Given the description of an element on the screen output the (x, y) to click on. 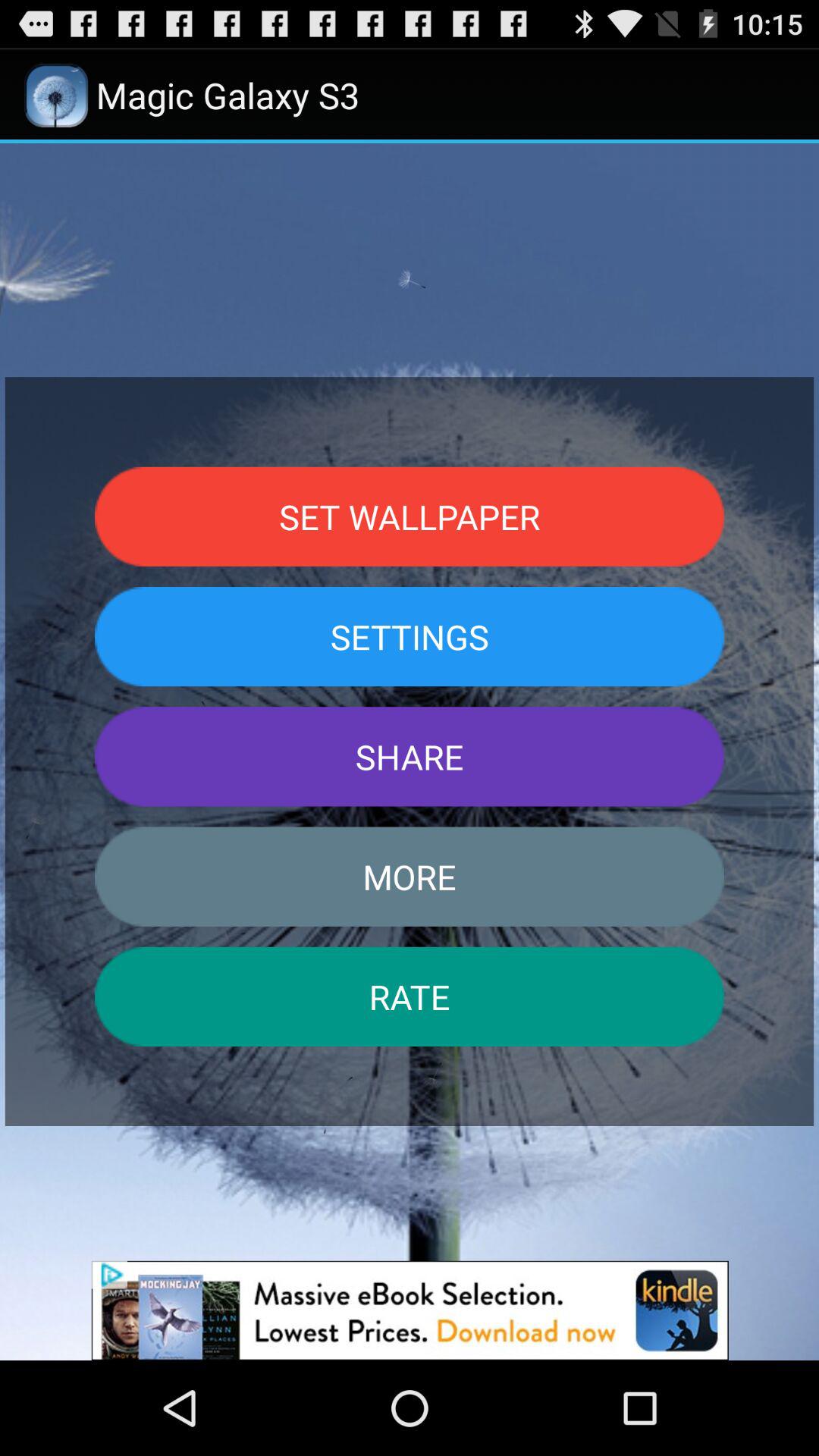
jump to the set wallpaper item (409, 516)
